Given the description of an element on the screen output the (x, y) to click on. 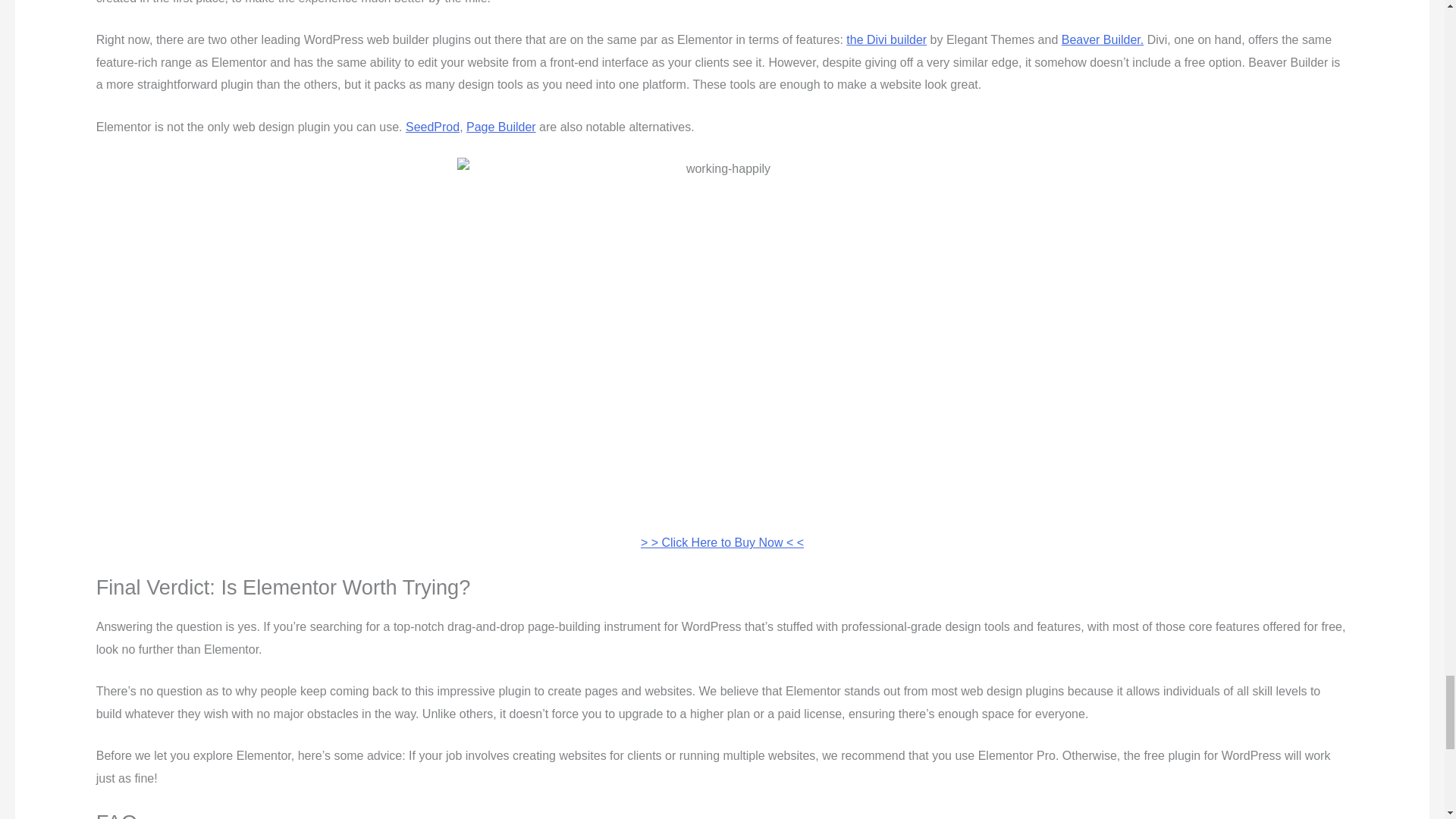
SeedProd (433, 126)
Page Builder (500, 126)
the Divi builder (885, 39)
Beaver Builder. (1102, 39)
